Given the description of an element on the screen output the (x, y) to click on. 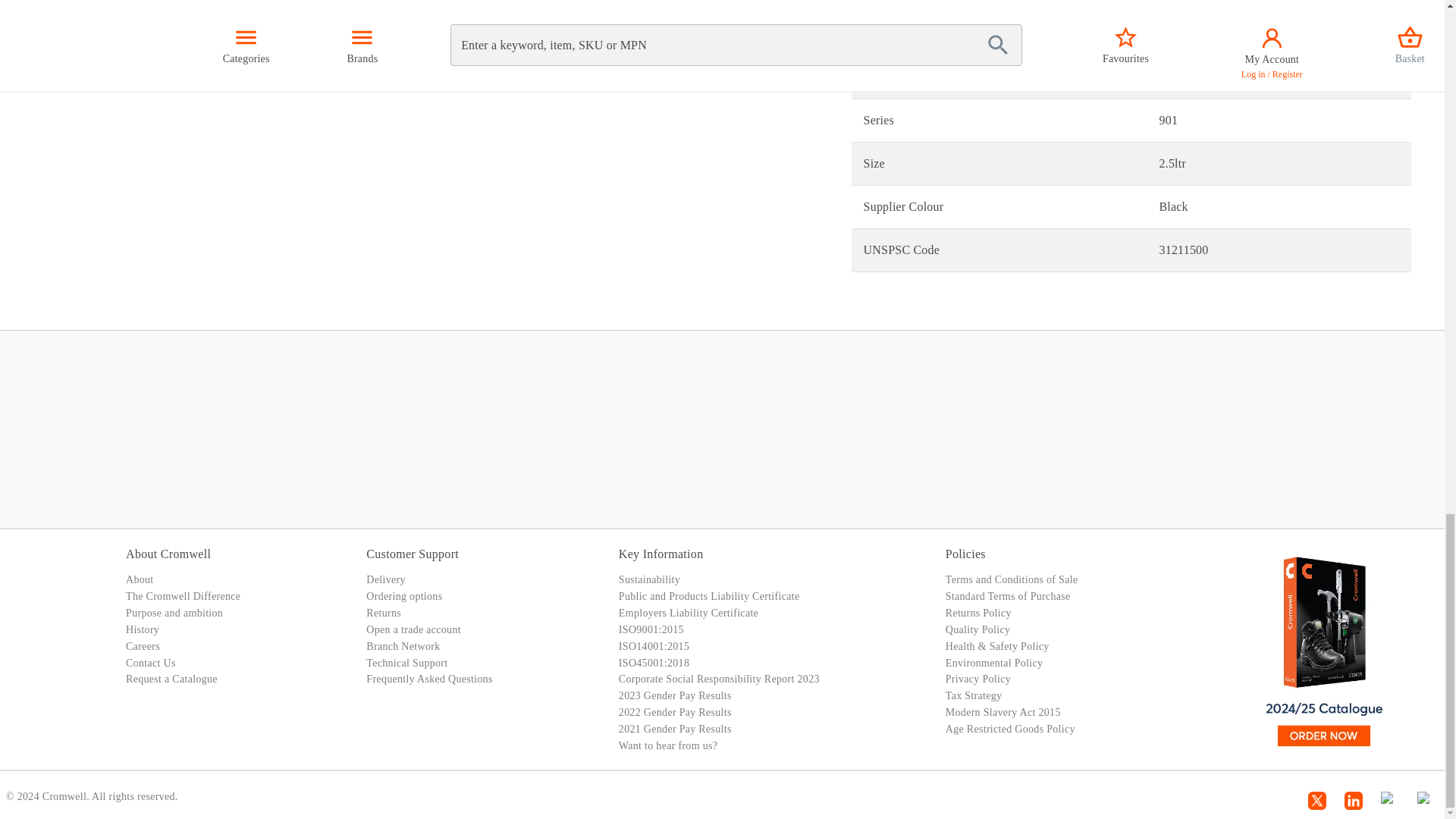
Safety Information (104, 13)
About Cromwell (168, 553)
About (139, 579)
The Cromwell Difference (182, 595)
Datasheet (225, 13)
Purpose and ambition (173, 613)
